Given the description of an element on the screen output the (x, y) to click on. 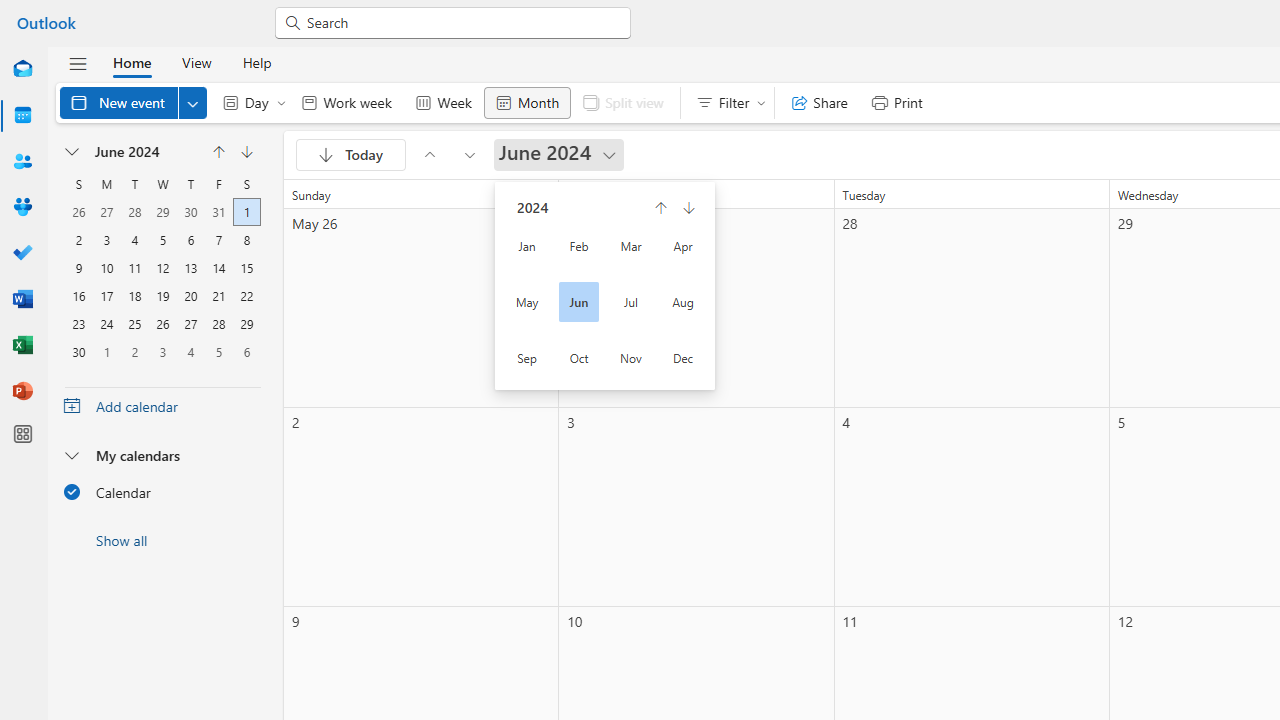
16, June, 2024 (78, 294)
2, July, 2024 (134, 349)
Split view (622, 102)
6, June, 2024 (190, 237)
View (196, 61)
18, June, 2024 (134, 294)
4, June, 2024 (134, 237)
Calendar (162, 491)
1, July, 2024 (107, 350)
17, June, 2024 (107, 294)
My calendarsCalendar (162, 479)
Calendar (22, 115)
Thursday (190, 183)
3, June, 2024 (106, 238)
4, June, 2024 (134, 238)
